Given the description of an element on the screen output the (x, y) to click on. 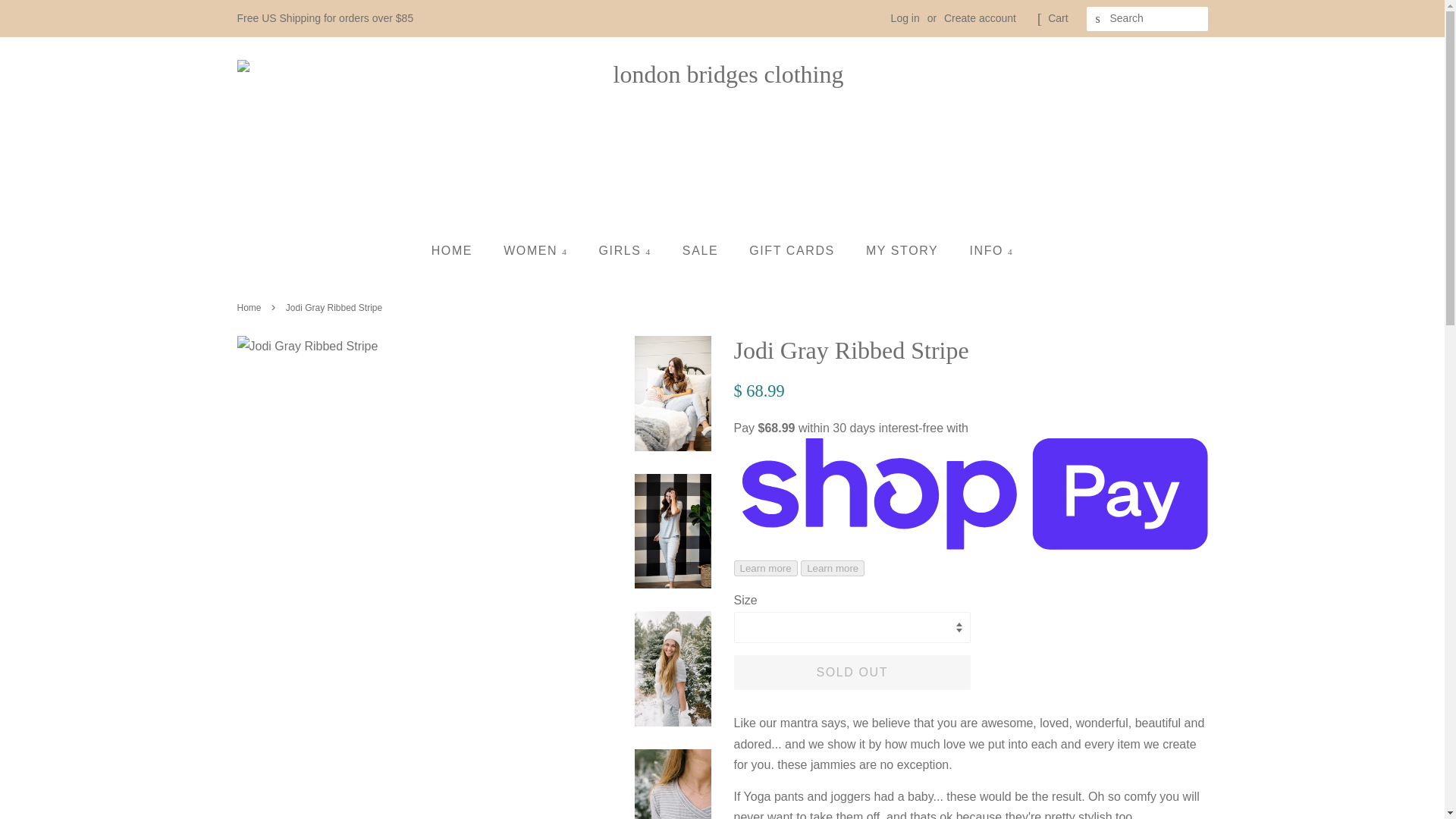
Cart (1057, 18)
Back to the frontpage (249, 307)
Create account (979, 18)
SEARCH (1097, 18)
Log in (905, 18)
